Given the description of an element on the screen output the (x, y) to click on. 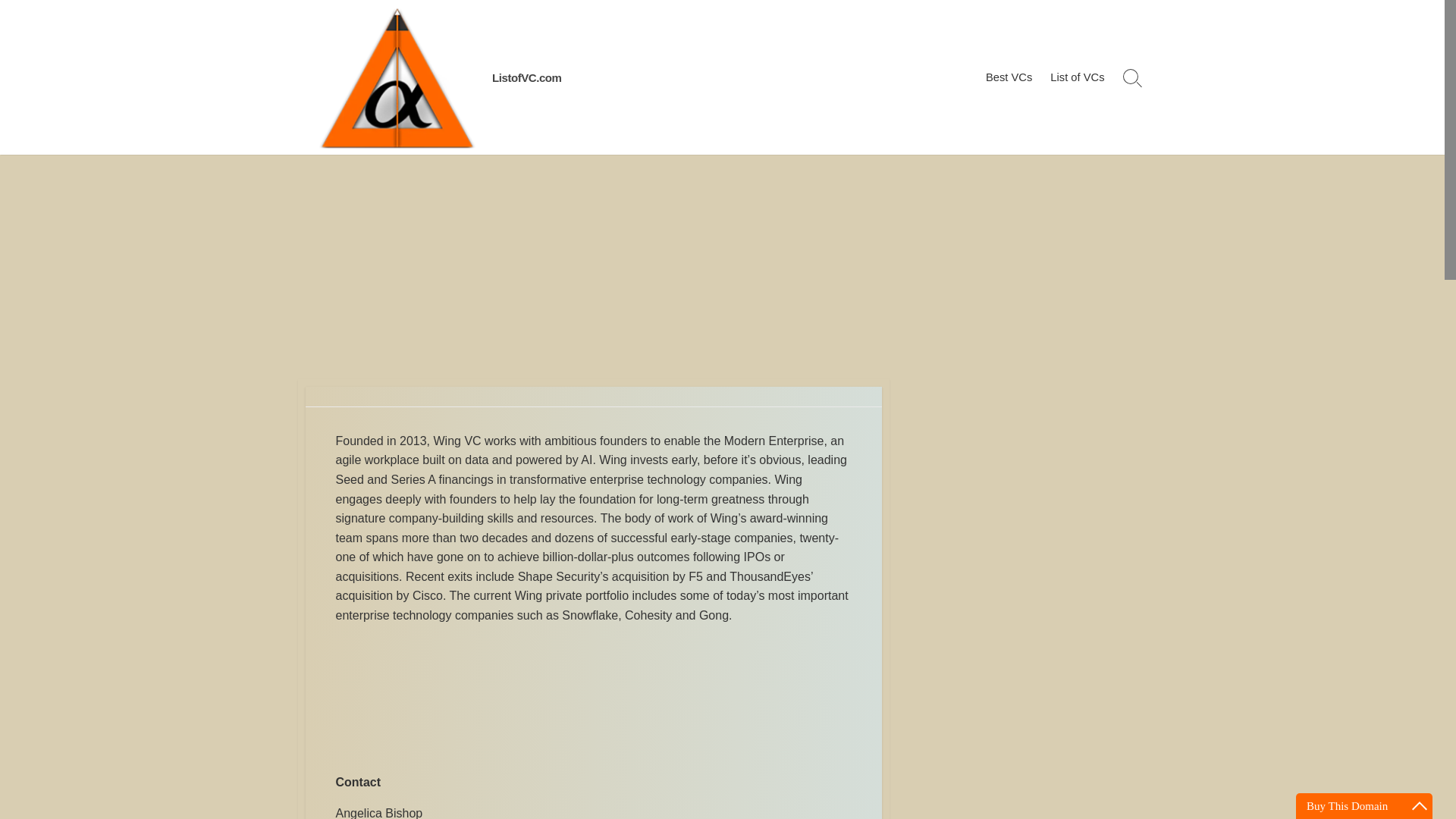
List of VCs (1077, 77)
ListofVC.com (526, 77)
ListofVC.com (395, 77)
Maximize (1419, 805)
Best VCs (1008, 77)
ListofVC.com (526, 77)
Advertisement (592, 702)
